Given the description of an element on the screen output the (x, y) to click on. 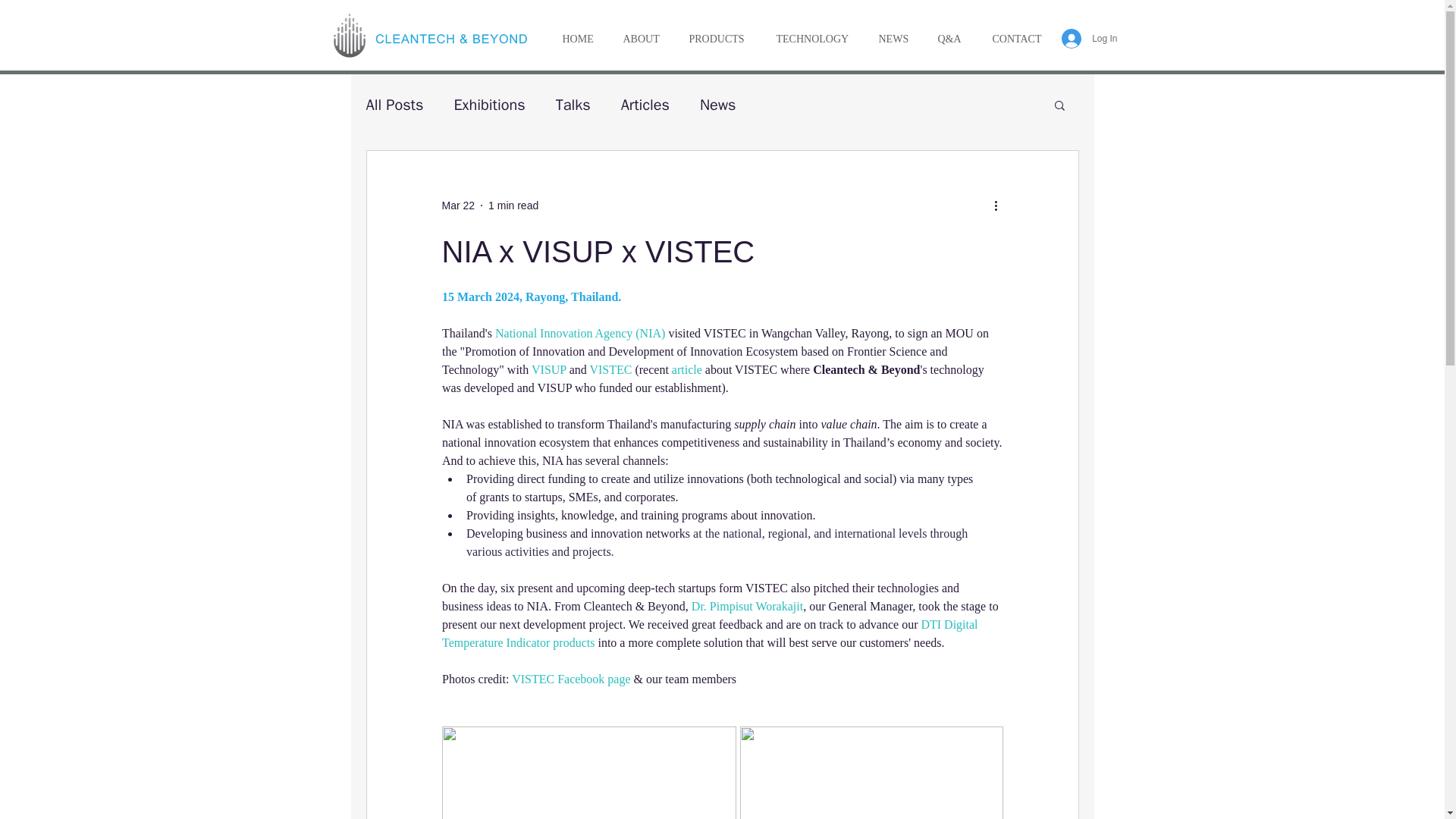
article  (687, 369)
Talks (573, 104)
DTI Digital Temperature Indicator products (710, 633)
HOME (577, 38)
VISTEC (610, 369)
NEWS (892, 38)
PRODUCTS (716, 38)
News (718, 104)
Mar 22 (457, 204)
CONTACT (1017, 38)
